Given the description of an element on the screen output the (x, y) to click on. 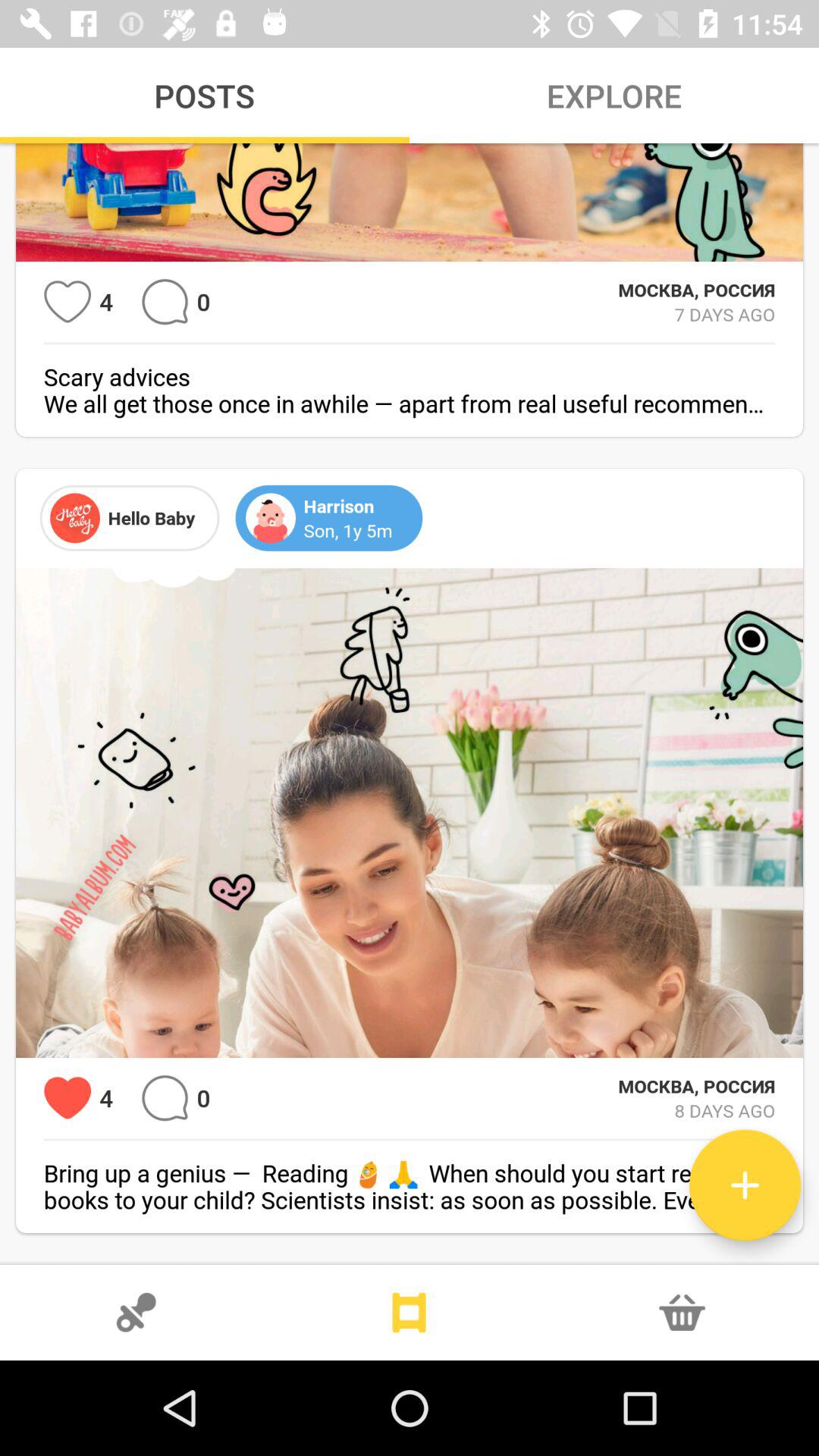
add post (744, 1185)
